Given the description of an element on the screen output the (x, y) to click on. 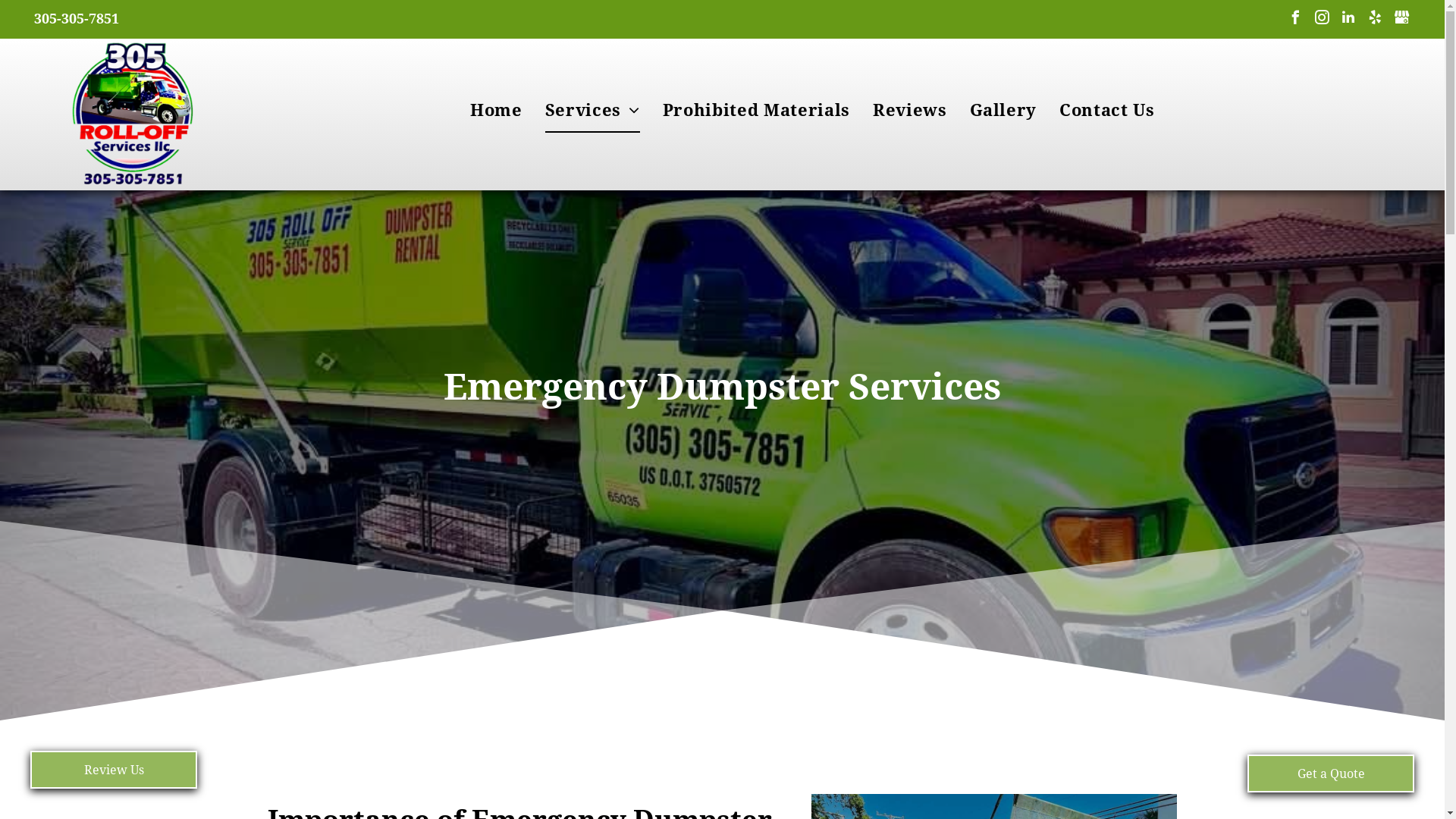
Prohibited Materials Element type: text (756, 110)
Services Element type: text (592, 110)
Reviews Element type: text (909, 110)
Review Us Element type: text (113, 769)
Contact Us Element type: text (1107, 110)
Get a Quote Element type: text (1330, 773)
Home Element type: text (495, 110)
Gallery Element type: text (1003, 110)
